Given the description of an element on the screen output the (x, y) to click on. 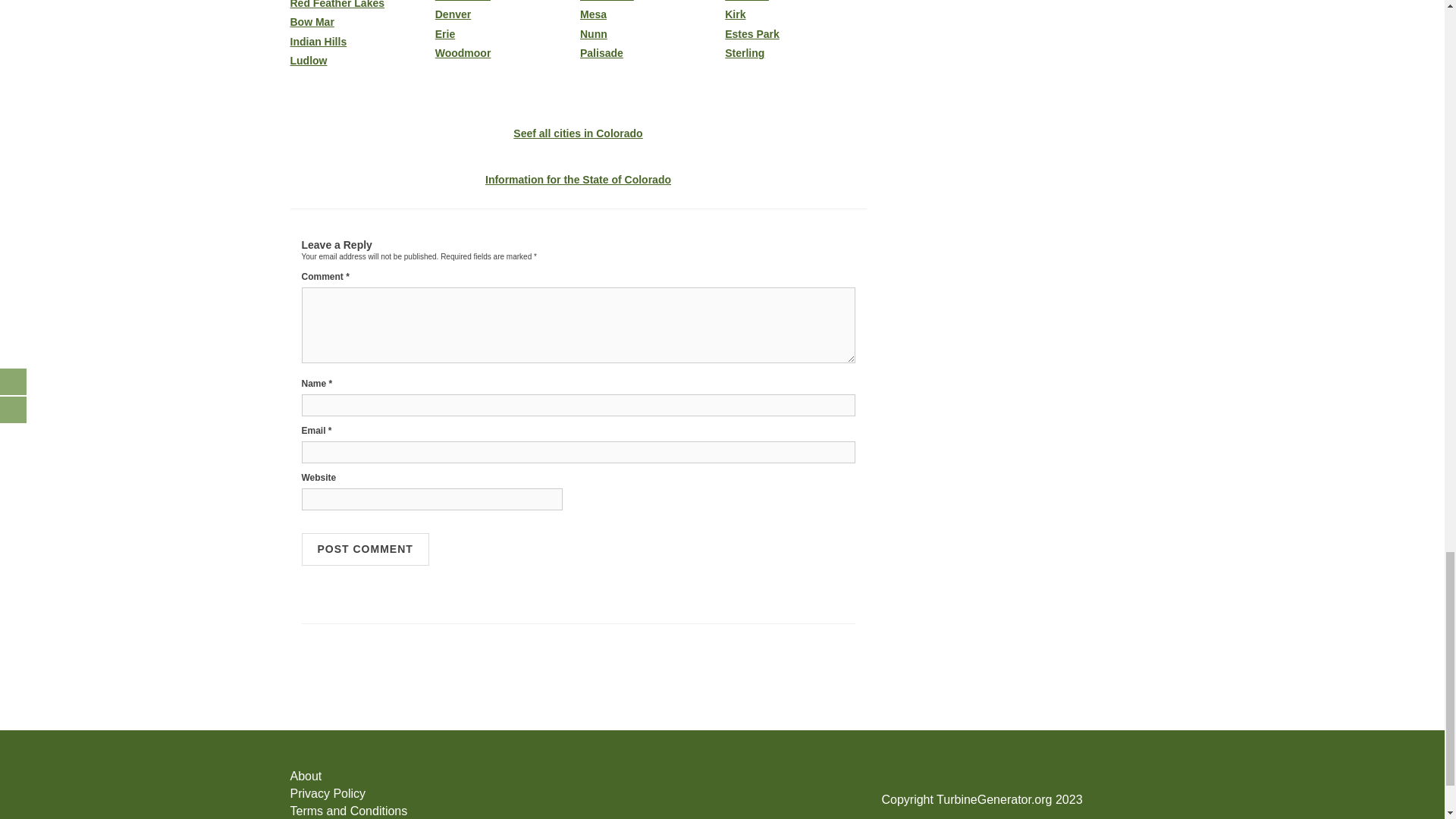
Post Comment (365, 549)
Woodmoor (505, 52)
Erie (505, 34)
Red Feather Lakes (359, 4)
Bow Mar (359, 21)
Indian Hills (359, 41)
Denver (505, 14)
Snowmass (505, 0)
Advertisement (721, 688)
Ludlow (359, 60)
